Given the description of an element on the screen output the (x, y) to click on. 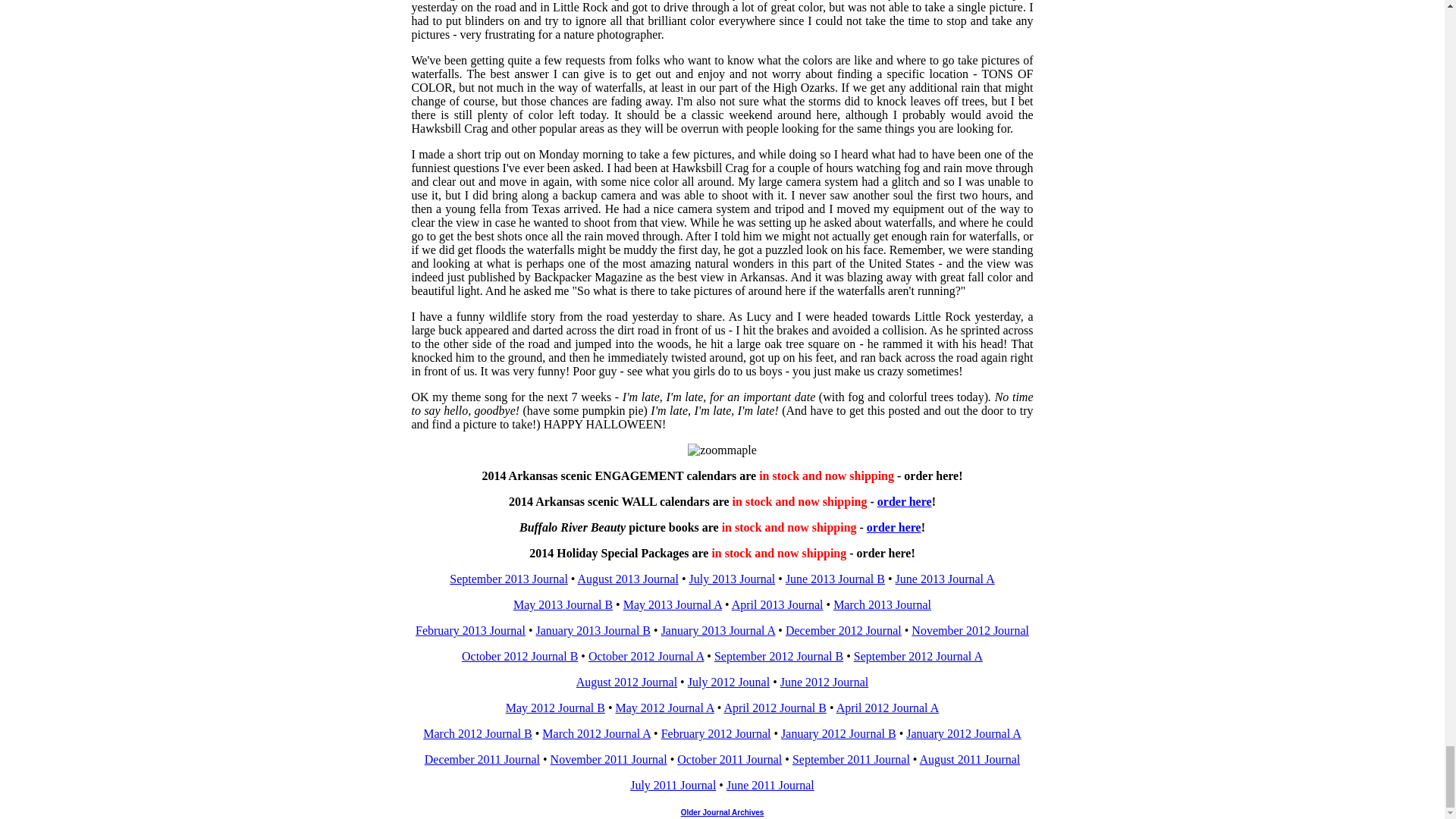
June 2012 Journal (823, 681)
June 2013 Journal A (944, 578)
July 2012 Jounal (728, 681)
January 2013 Journal B (592, 630)
November 2012 Journal (970, 630)
October 2012 Journal A (645, 656)
September 2012 Journal A (917, 656)
Cloudland Journal Archives (742, 812)
January 2013 Journal A (718, 630)
April 2012 Journal B (775, 707)
July 2013 Journal (731, 578)
August 2012 Journal (626, 681)
December 2012 Journal (843, 630)
September 2012 Journal B (778, 656)
February 2013 Journal (469, 630)
